Given the description of an element on the screen output the (x, y) to click on. 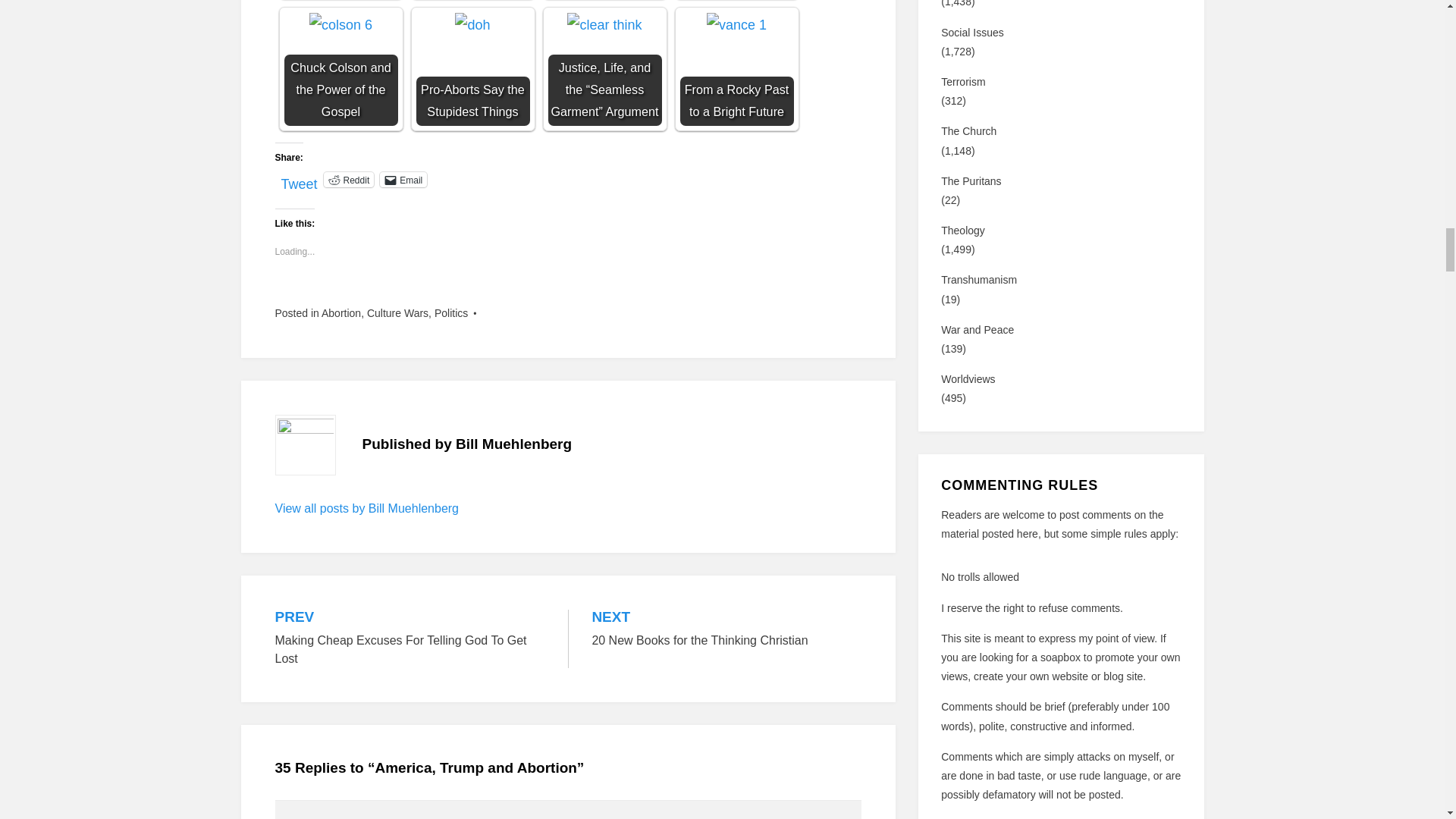
Pro-Aborts Say the Stupidest Things (471, 69)
Chuck Colson and the Power of the Gospel (340, 69)
Email (403, 179)
Tweet (299, 178)
Reddit (348, 179)
From a Rocky Past to a Bright Future (736, 69)
